Given the description of an element on the screen output the (x, y) to click on. 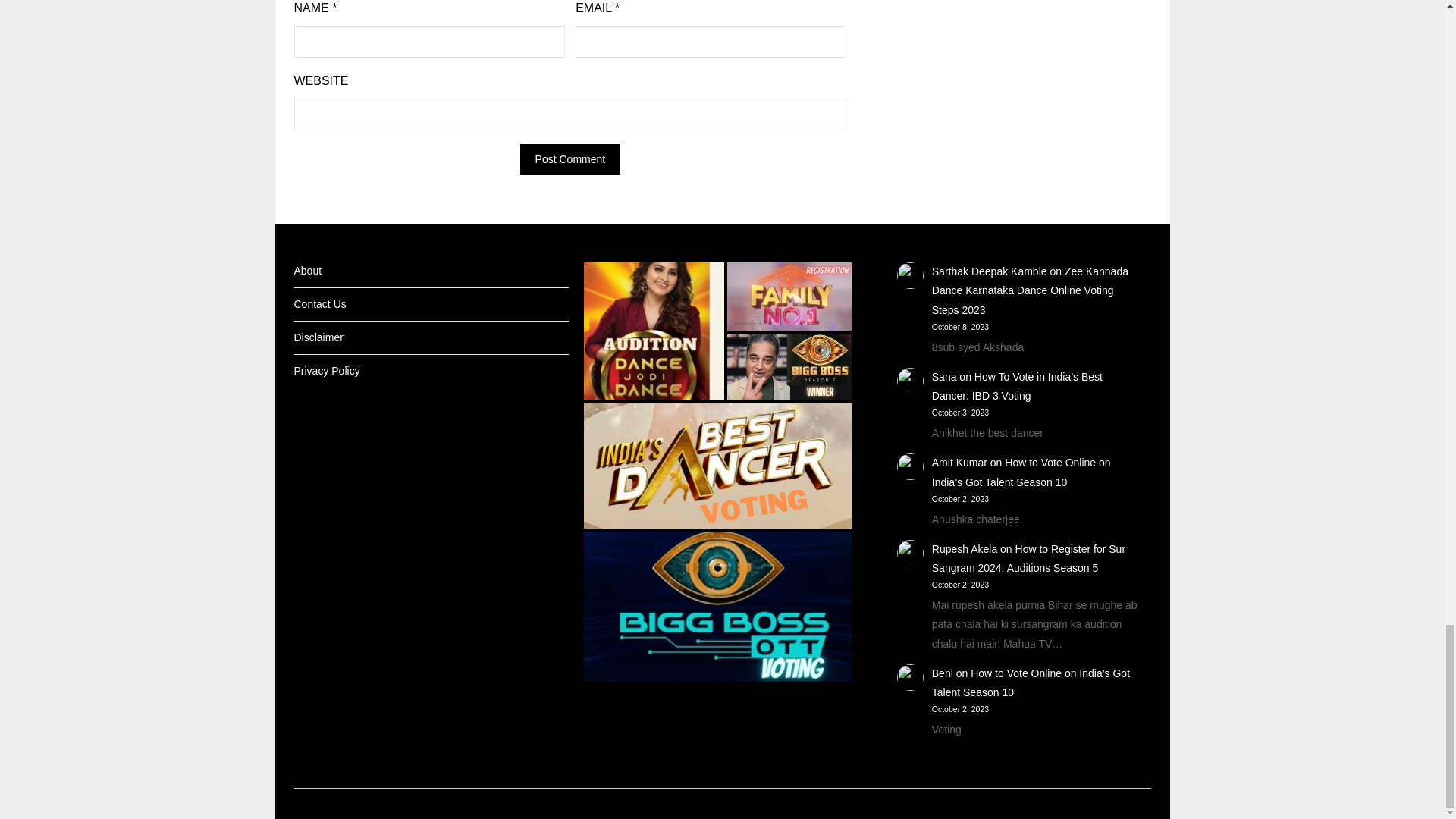
Post Comment (570, 159)
About (307, 270)
Post Comment (570, 159)
